Given the description of an element on the screen output the (x, y) to click on. 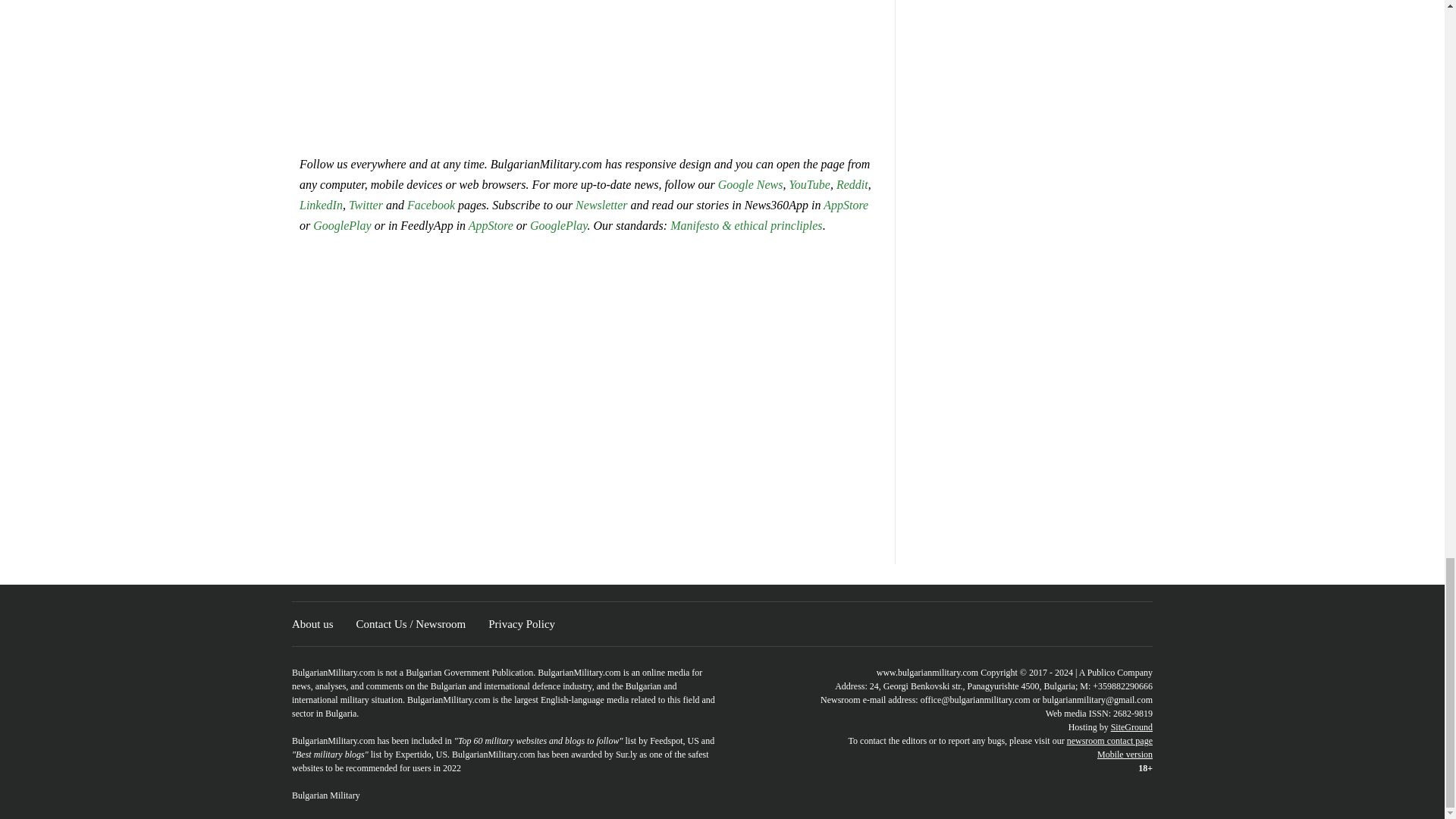
Reddit (851, 184)
Newsletter (601, 205)
LinkedIn (320, 205)
Advertisement (587, 69)
Twitter (367, 205)
Facebook (430, 205)
Google News (750, 184)
AppStore (845, 205)
YouTube (809, 184)
